Given the description of an element on the screen output the (x, y) to click on. 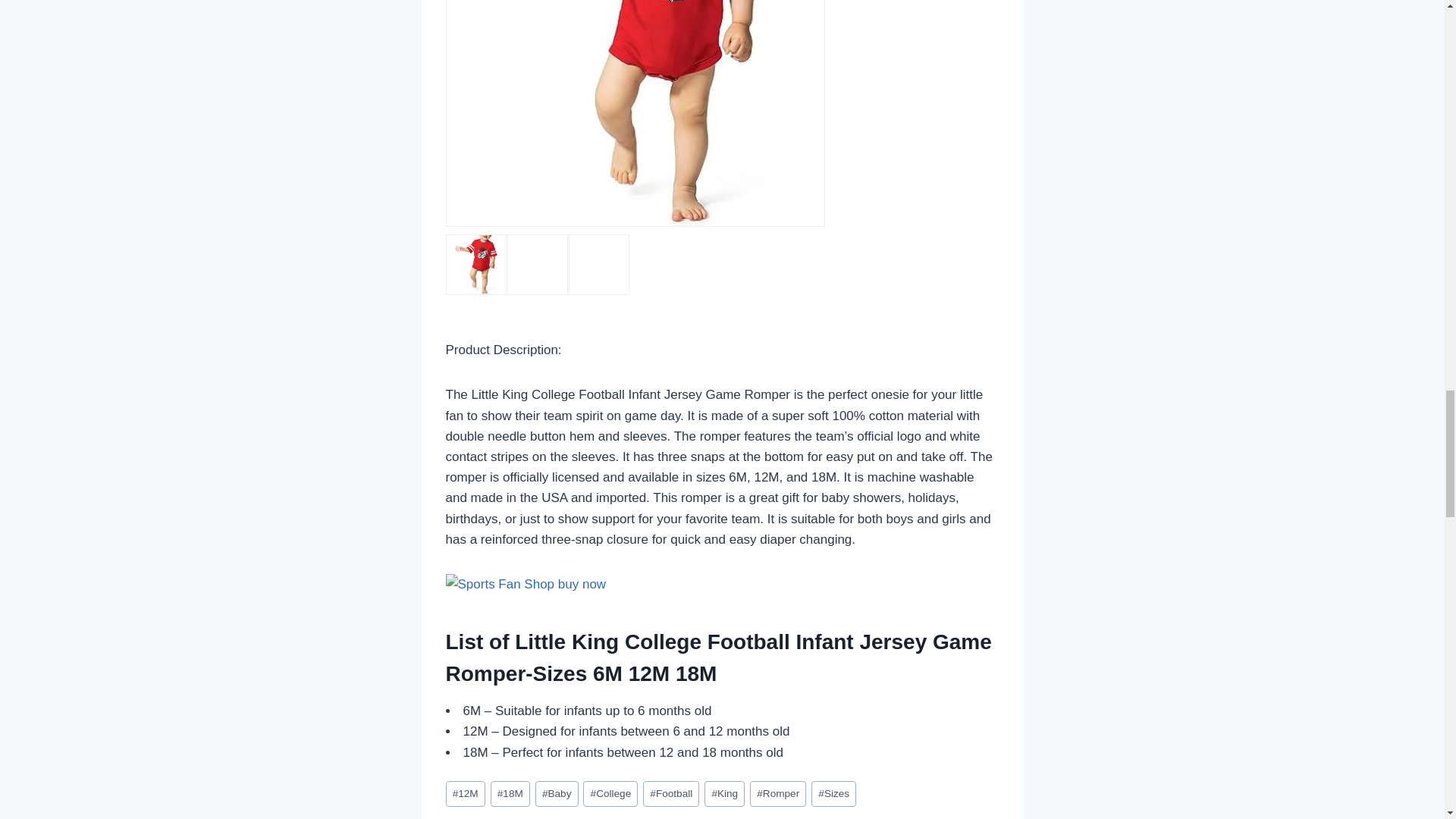
King (724, 794)
Baby (556, 794)
12M (464, 794)
Sizes (833, 794)
18M (509, 794)
Romper (777, 794)
Football (670, 794)
College (610, 794)
